Given the description of an element on the screen output the (x, y) to click on. 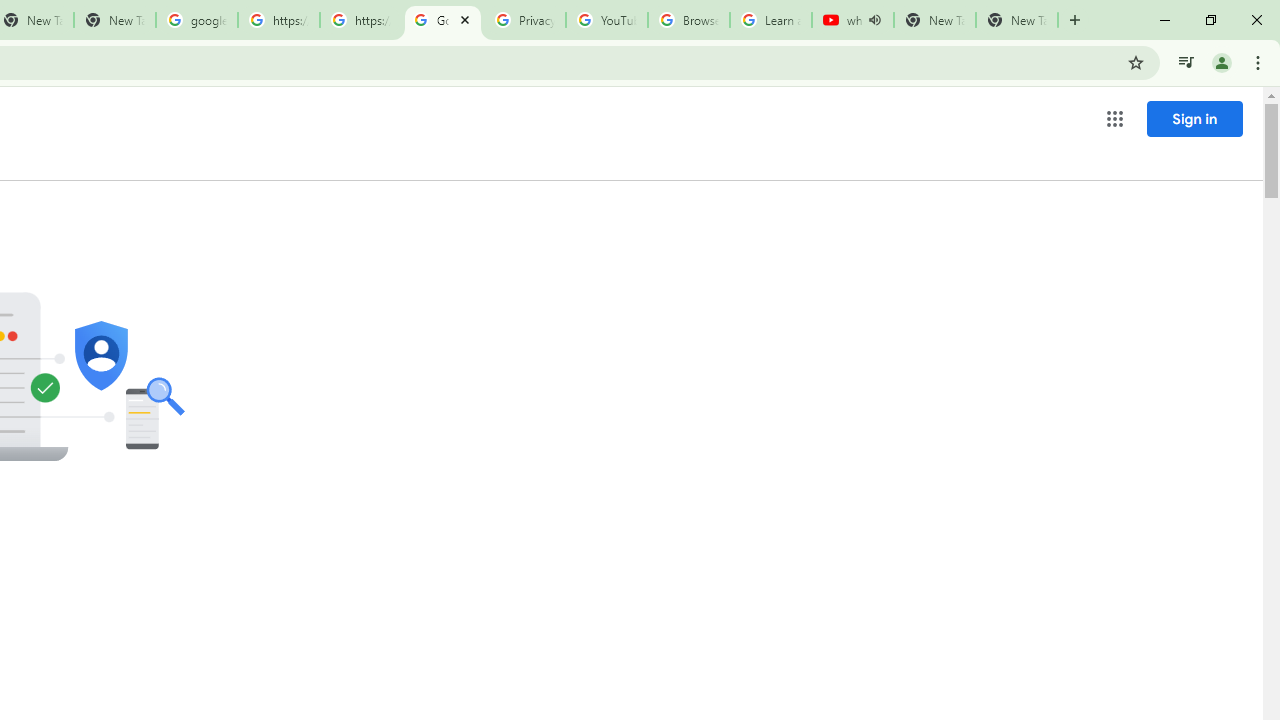
Browse Chrome as a guest - Computer - Google Chrome Help (688, 20)
New Tab (1016, 20)
